Given the description of an element on the screen output the (x, y) to click on. 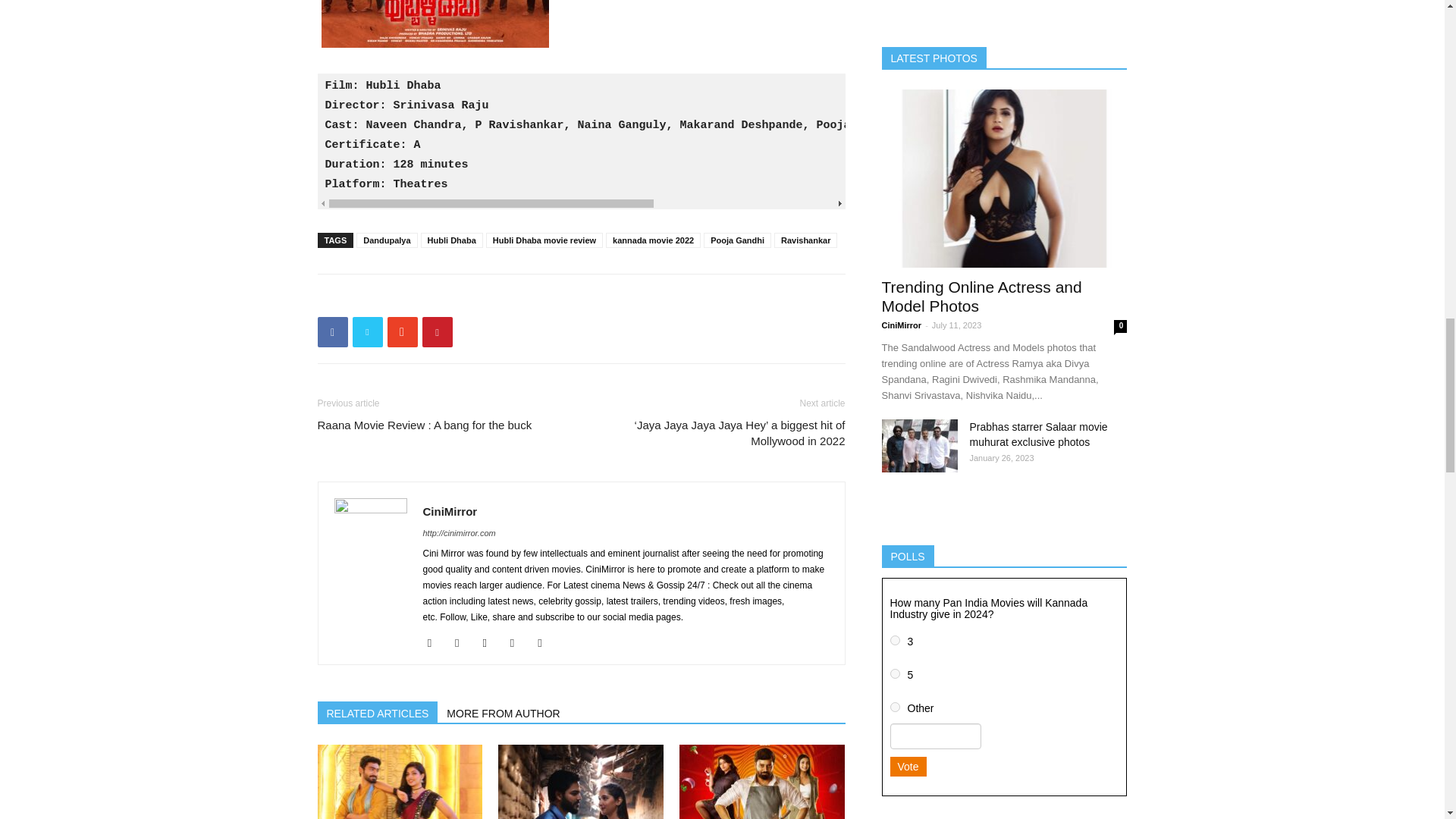
Mail (489, 642)
Instagram (462, 642)
18 (894, 640)
0 (894, 706)
17 (894, 673)
Facebook (435, 642)
